Given the description of an element on the screen output the (x, y) to click on. 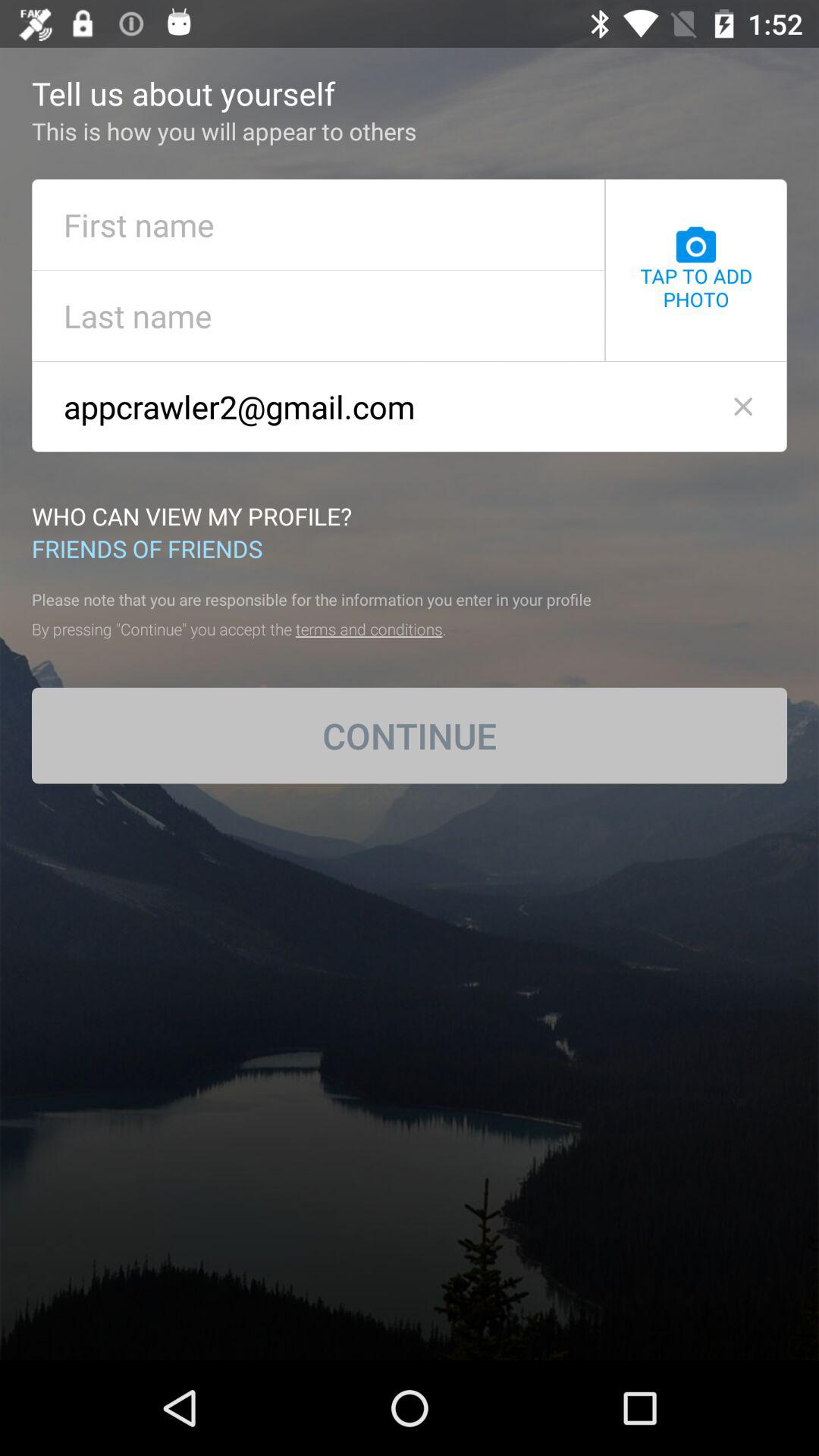
type the name (318, 224)
